Given the description of an element on the screen output the (x, y) to click on. 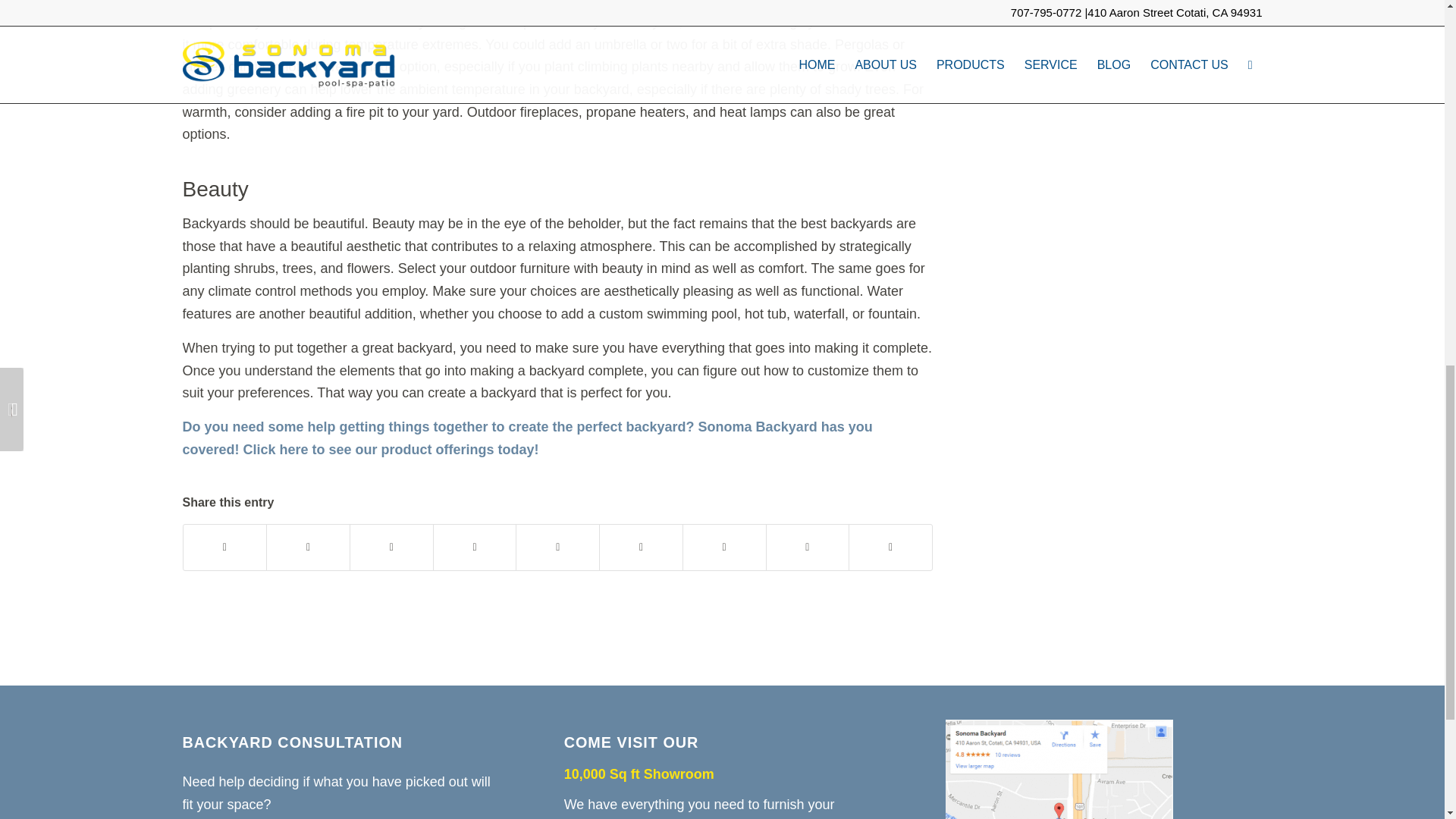
here (293, 449)
